Given the description of an element on the screen output the (x, y) to click on. 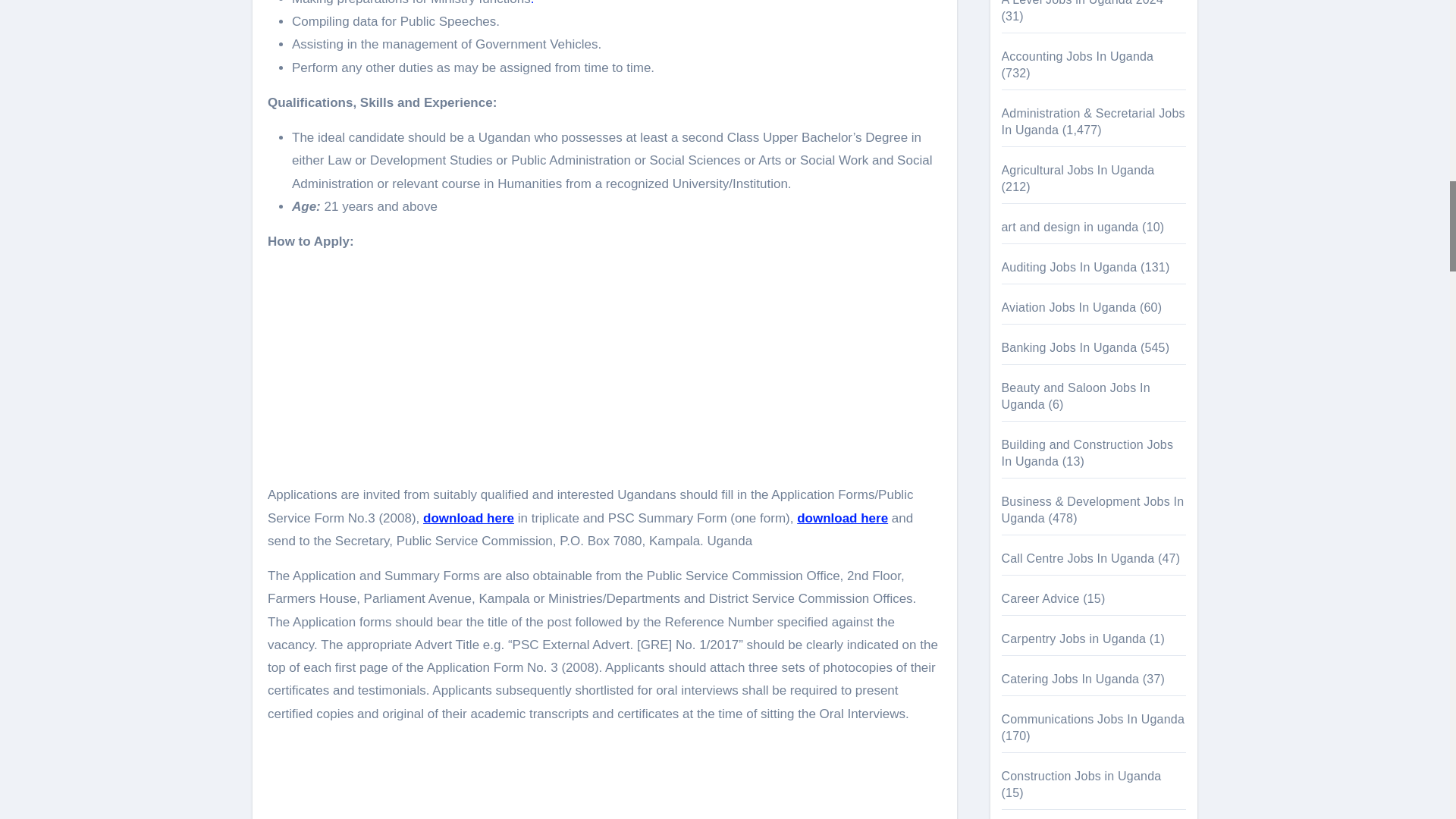
Advertisement (606, 778)
download here (842, 518)
download here (468, 518)
